Given the description of an element on the screen output the (x, y) to click on. 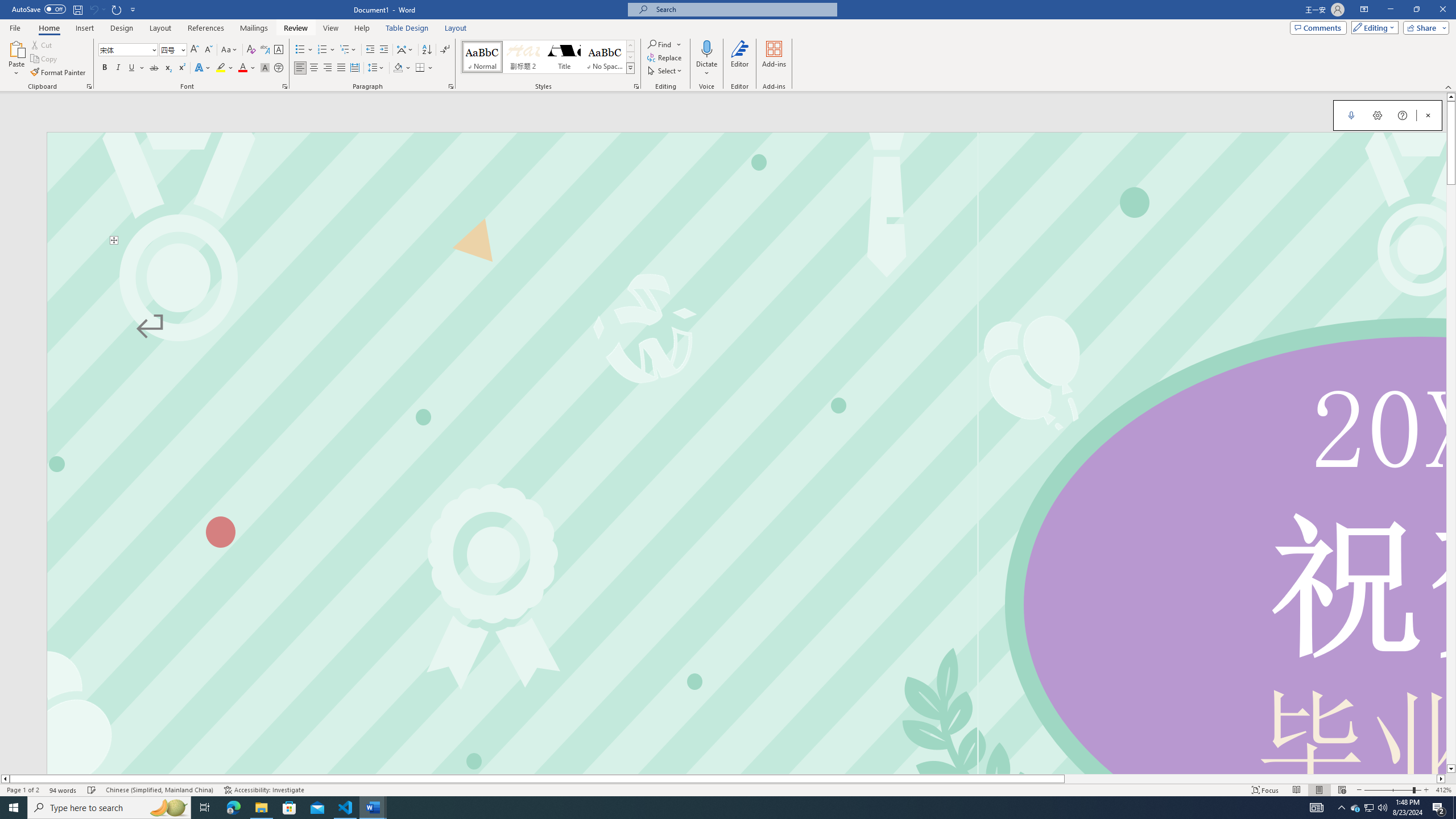
Text Highlight Color (224, 67)
Spelling and Grammar Check Checking (91, 790)
Show/Hide Editing Marks (444, 49)
Row Down (630, 56)
Shading (402, 67)
Subscript (167, 67)
Center (313, 67)
